Given the description of an element on the screen output the (x, y) to click on. 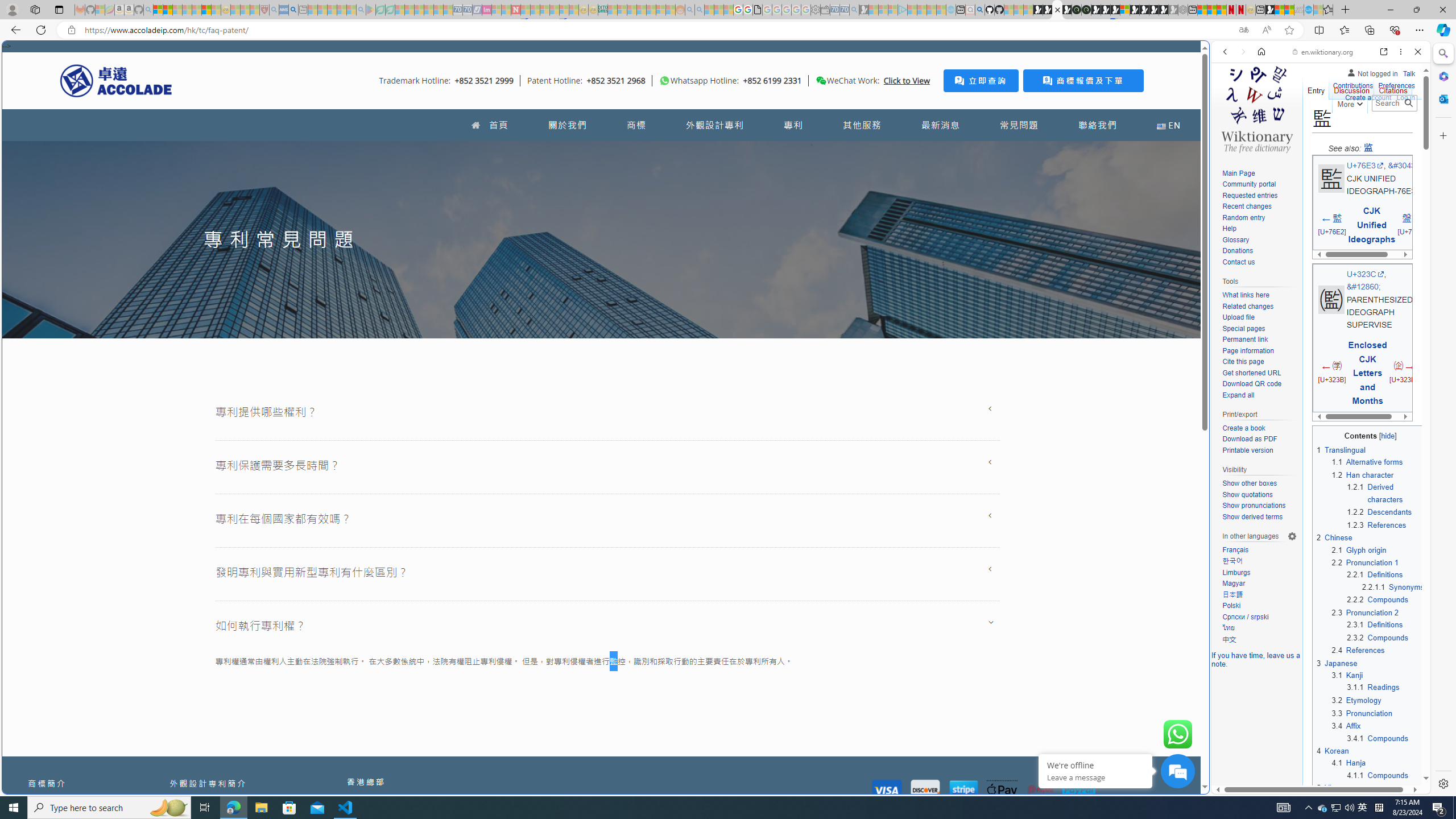
1.2.3 References (1376, 524)
Not logged in (1371, 71)
Citations (1393, 87)
4.1.1 Compounds (1377, 775)
3.3Pronunciation (1377, 712)
Community portal (1259, 184)
